Given the description of an element on the screen output the (x, y) to click on. 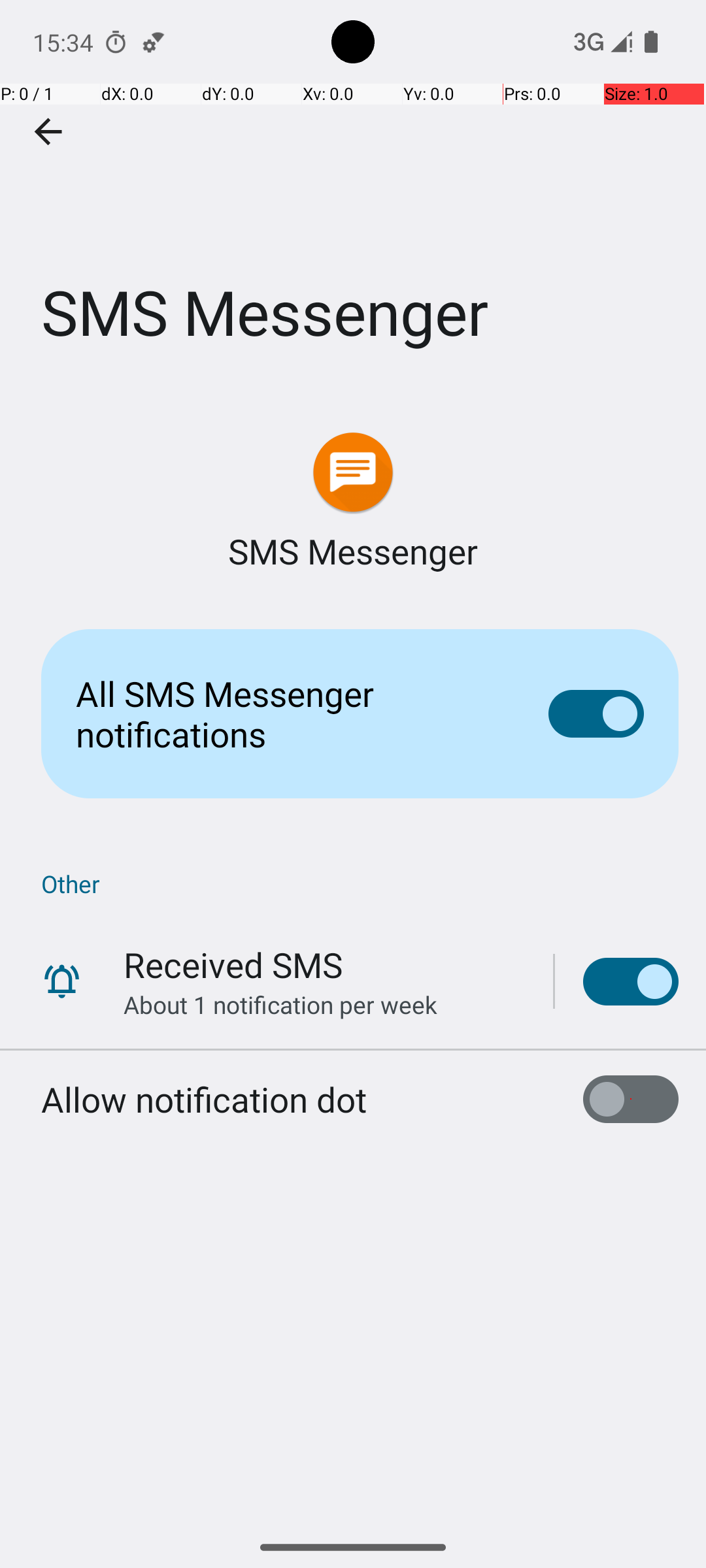
All SMS Messenger notifications Element type: android.widget.TextView (291, 713)
Received SMS Element type: android.widget.TextView (232, 964)
About 1 notification per week Element type: android.widget.TextView (280, 1004)
